Given the description of an element on the screen output the (x, y) to click on. 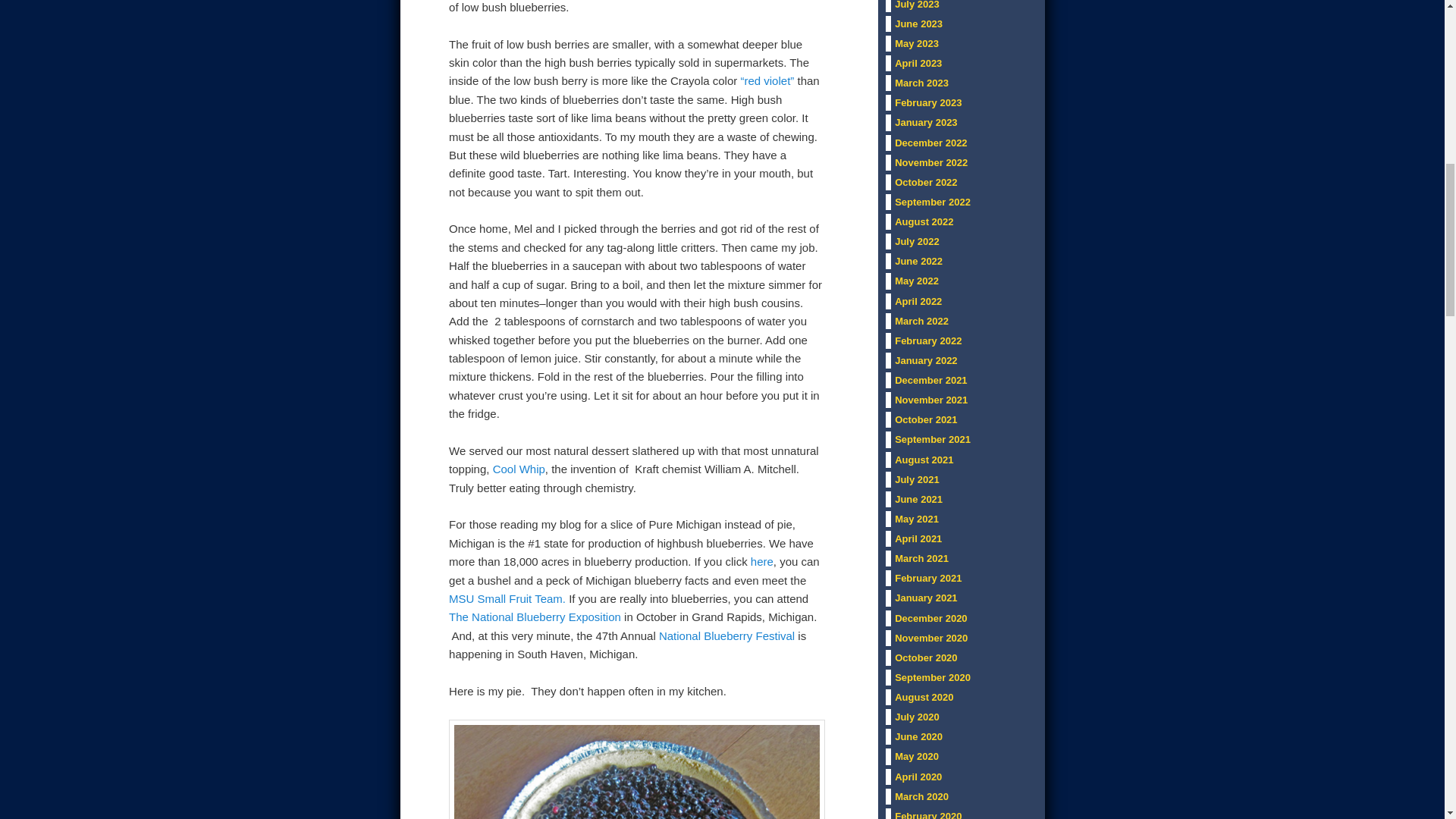
MSU Small Fruit Team. (507, 598)
National Blueberry Festival (726, 635)
here (762, 561)
The National Blueberry Exposition (536, 616)
Cool Whip (518, 468)
